Given the description of an element on the screen output the (x, y) to click on. 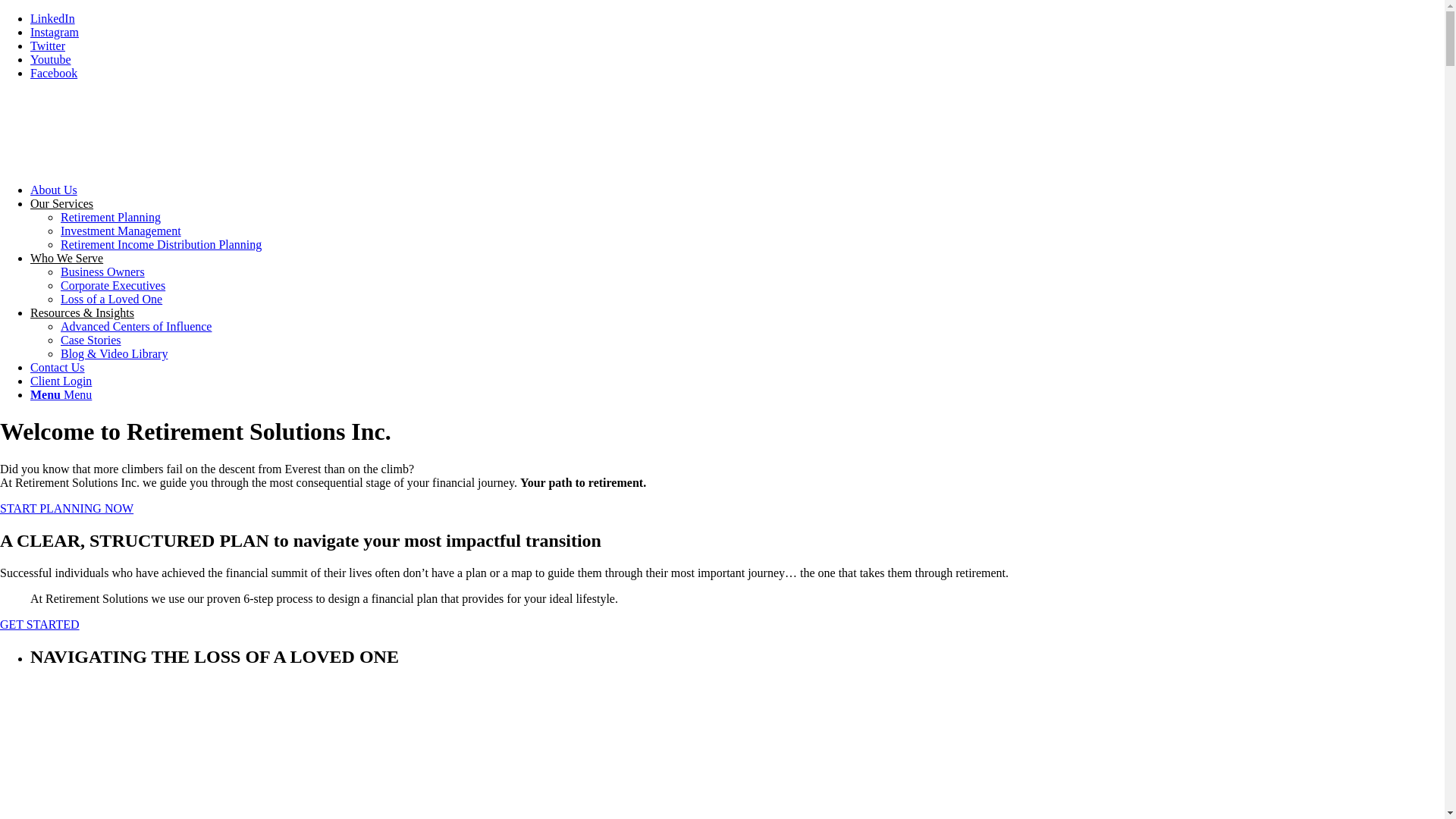
Client Login Element type: text (60, 380)
Facebook Element type: text (53, 72)
About Us Element type: text (53, 189)
Our Services Element type: text (61, 203)
Retirement Planning Element type: text (110, 216)
Instagram Element type: text (54, 31)
Contact Us Element type: text (57, 366)
Advanced Centers of Influence Element type: text (135, 326)
Resources & Insights Element type: text (82, 312)
Who We Serve Element type: text (66, 257)
Corporate Executives Element type: text (112, 285)
GET STARTED Element type: text (39, 624)
Business Owners Element type: text (102, 271)
Investment Management Element type: text (120, 230)
Twitter Element type: text (47, 45)
Retirement Income Distribution Planning Element type: text (160, 244)
Youtube Element type: text (50, 59)
Menu Menu Element type: text (60, 394)
Loss of a Loved One Element type: text (111, 298)
LinkedIn Element type: text (52, 18)
Case Stories Element type: text (90, 339)
Blog & Video Library Element type: text (113, 353)
START PLANNING NOW Element type: text (66, 508)
